Given the description of an element on the screen output the (x, y) to click on. 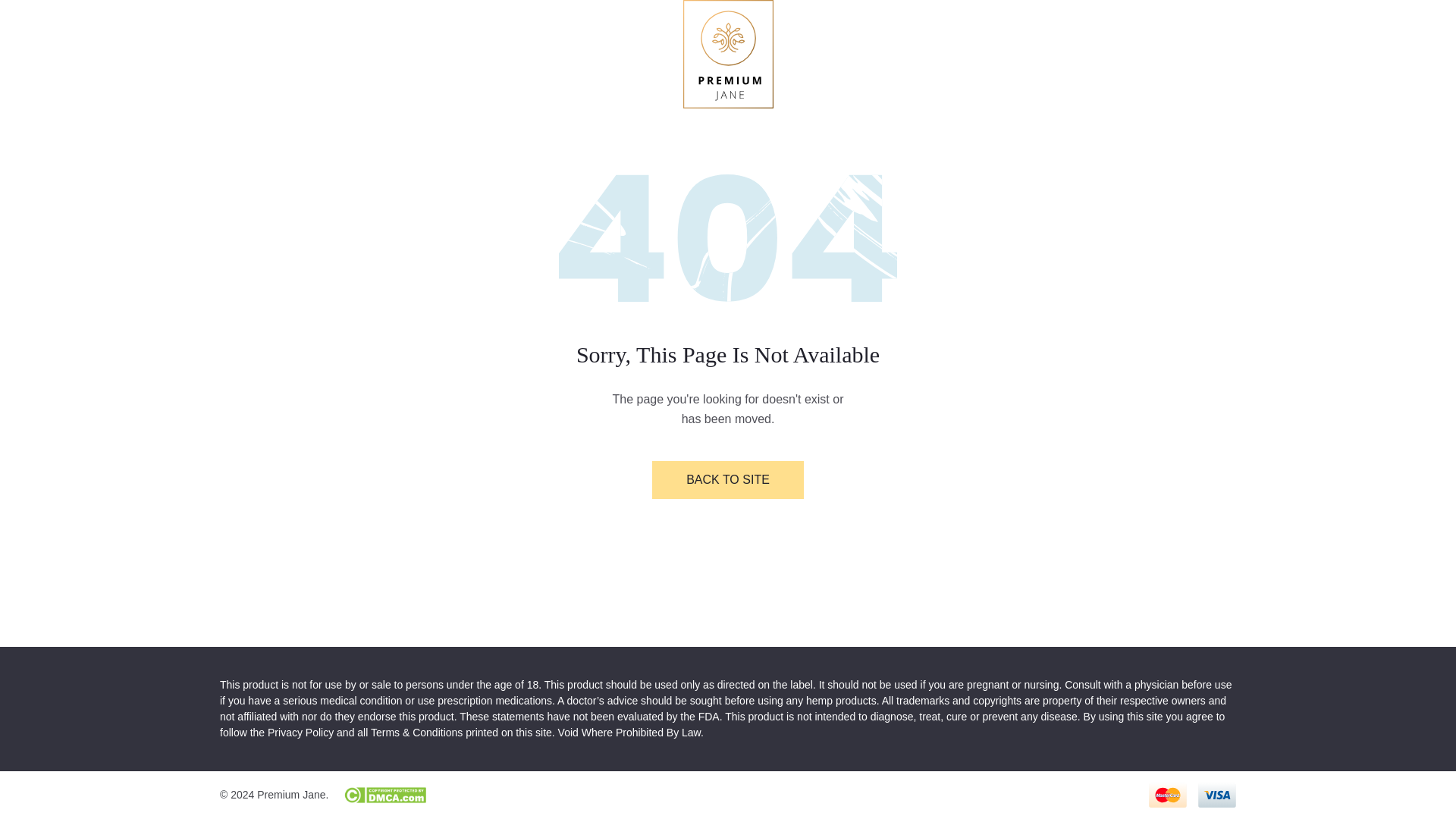
BACK TO SITE (727, 479)
